Given the description of an element on the screen output the (x, y) to click on. 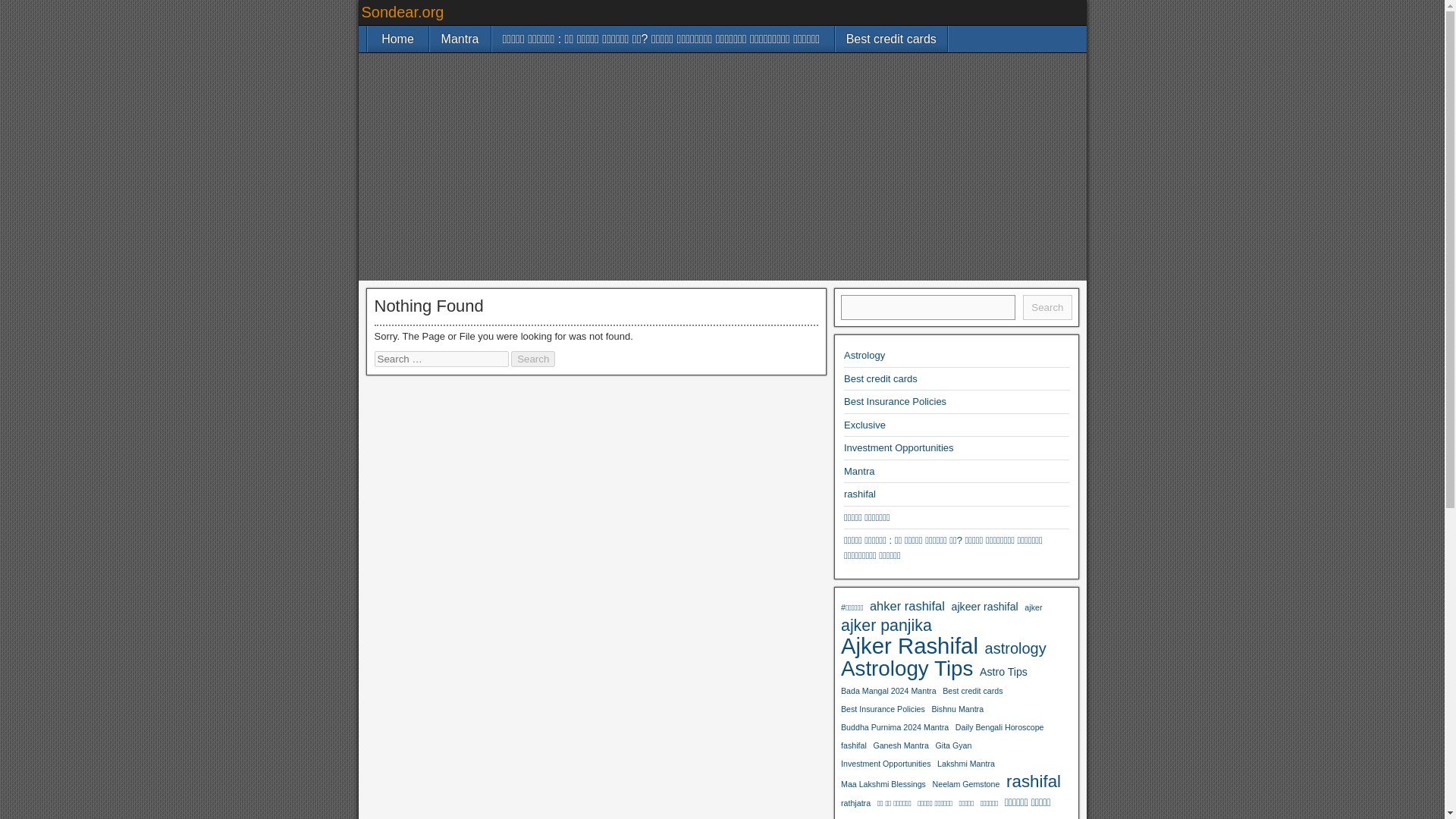
Search (1047, 307)
Investment Opportunities (885, 763)
Bishnu Mantra (957, 709)
Best credit cards (891, 38)
Search (532, 358)
ahker rashifal (906, 606)
Best credit cards (880, 378)
Best Insurance Policies (895, 401)
Search (532, 358)
Astrology Tips (906, 669)
Mantra (459, 38)
astrology (1015, 648)
Bada Mangal 2024 Mantra (888, 690)
ajker panjika (886, 625)
Daily Bengali Horoscope (999, 727)
